Given the description of an element on the screen output the (x, y) to click on. 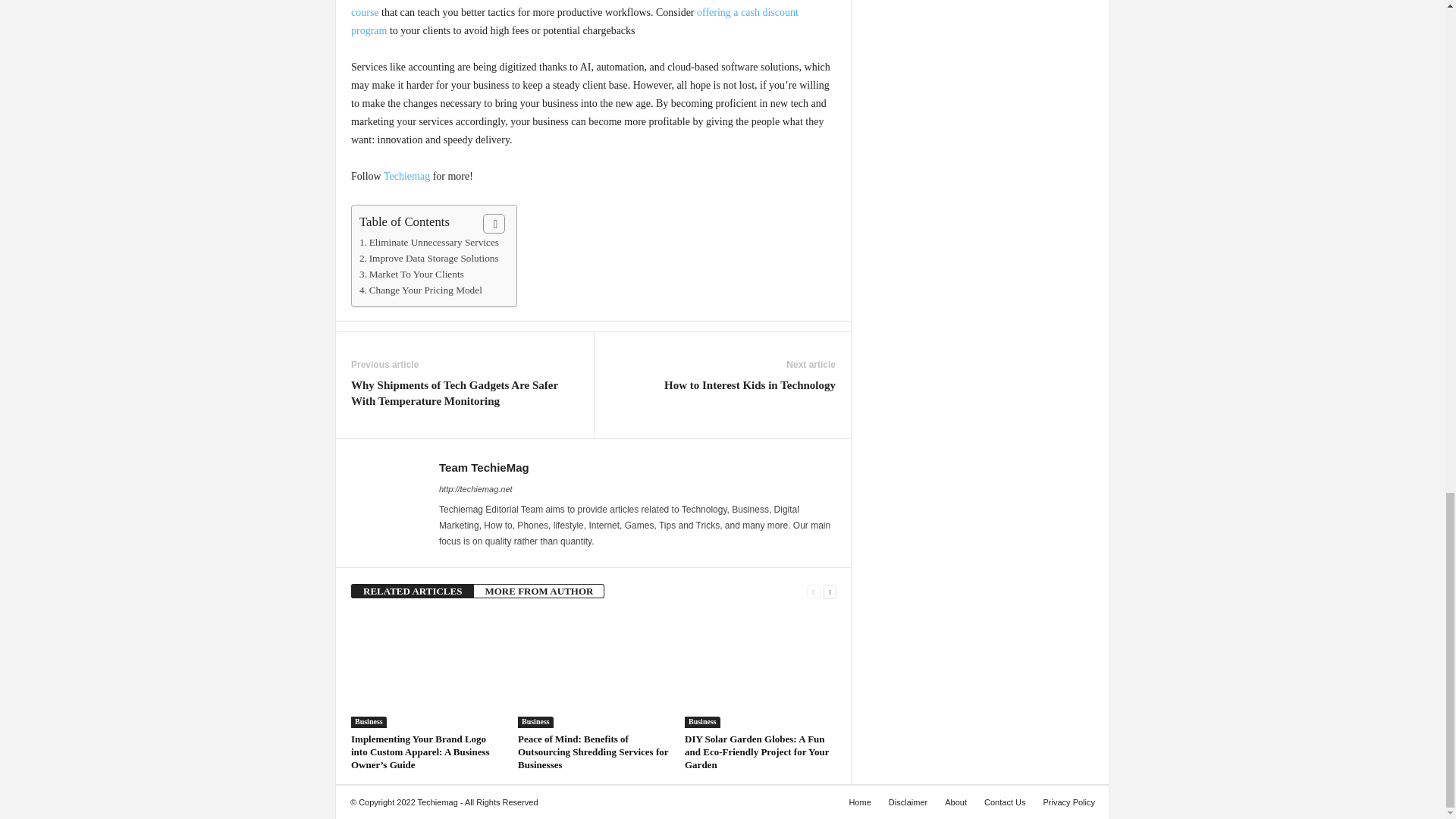
Improve Data Storage Solutions (429, 257)
